Given the description of an element on the screen output the (x, y) to click on. 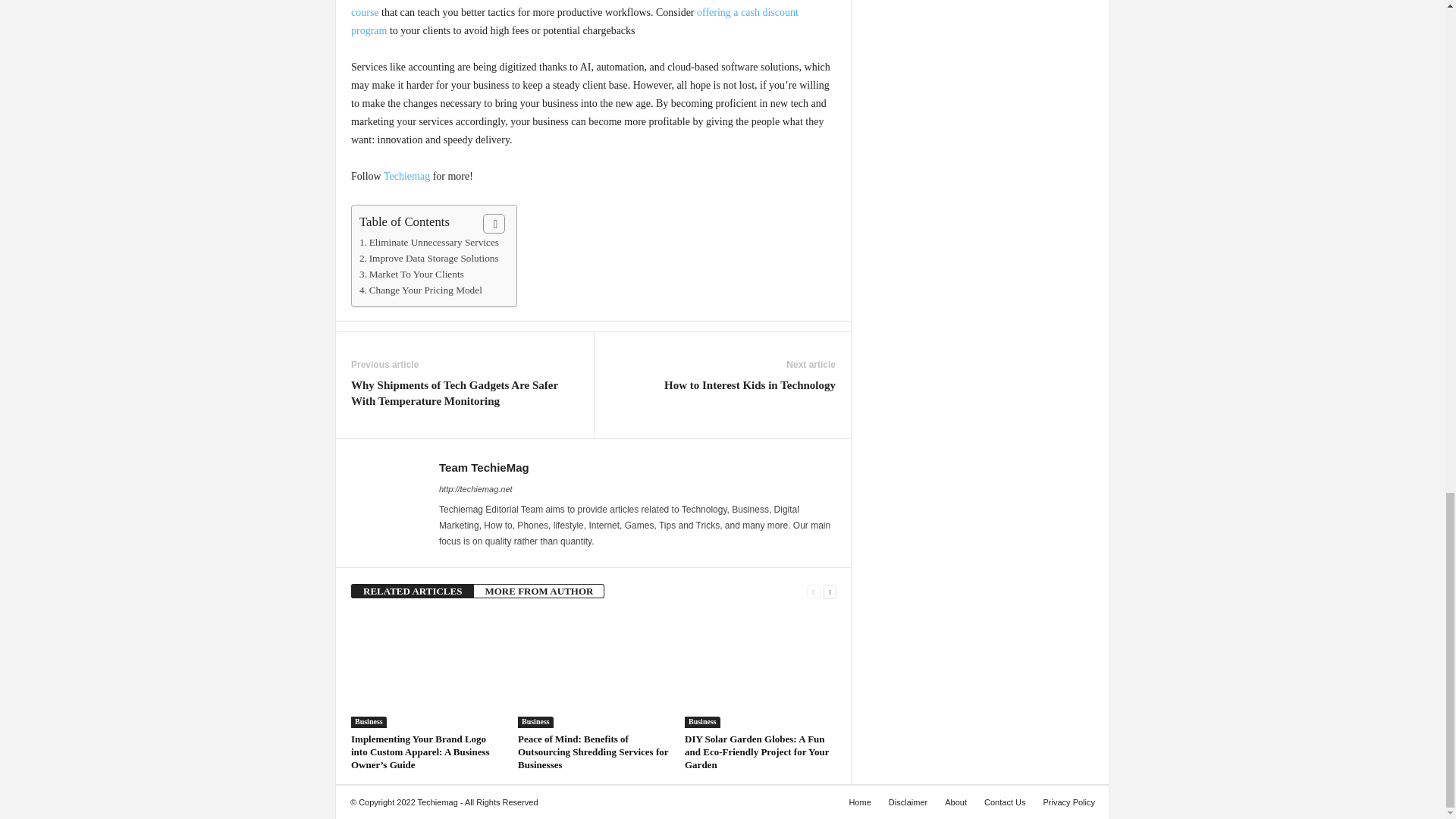
Improve Data Storage Solutions (429, 257)
